Given the description of an element on the screen output the (x, y) to click on. 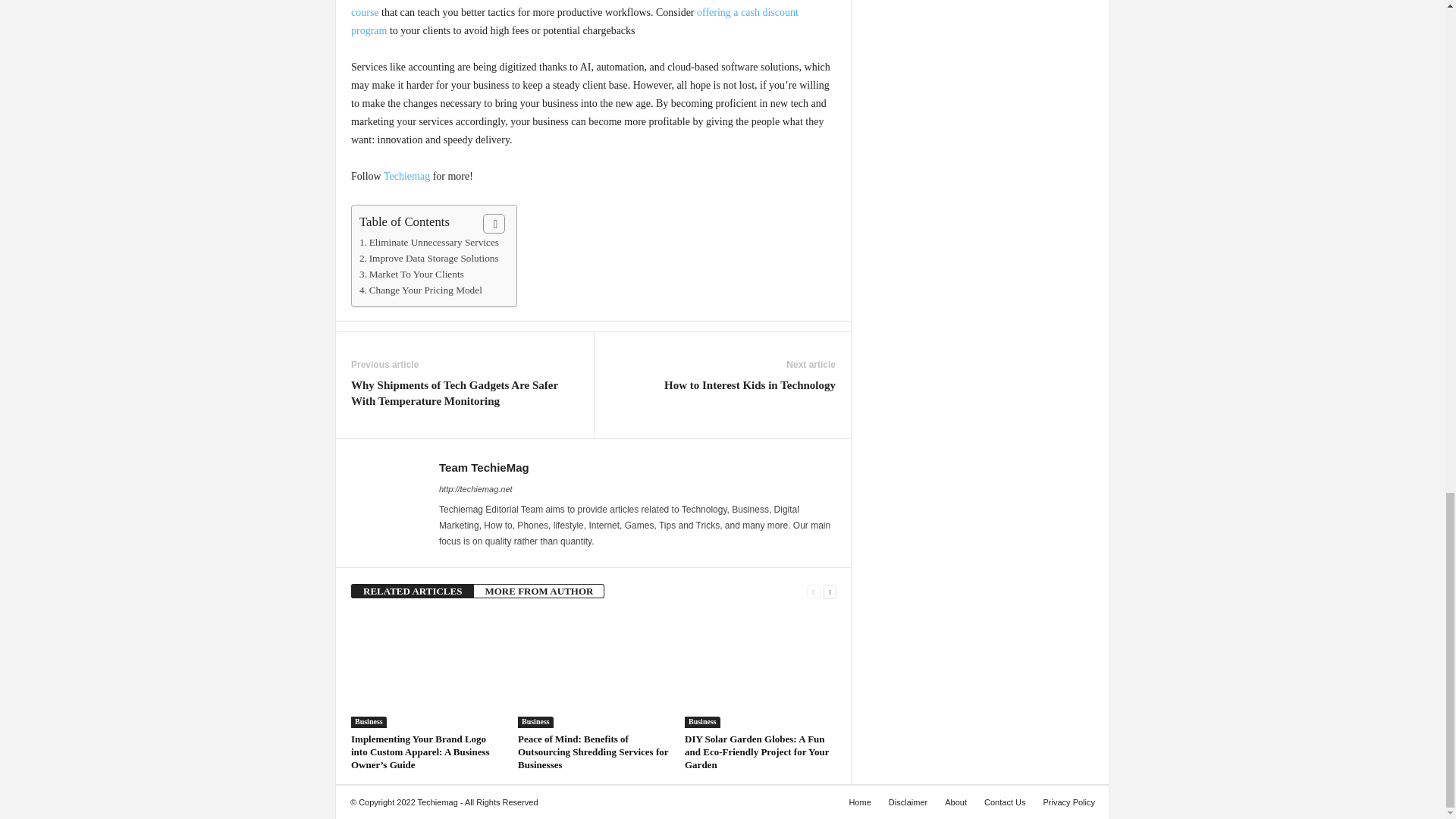
Improve Data Storage Solutions (429, 257)
